Given the description of an element on the screen output the (x, y) to click on. 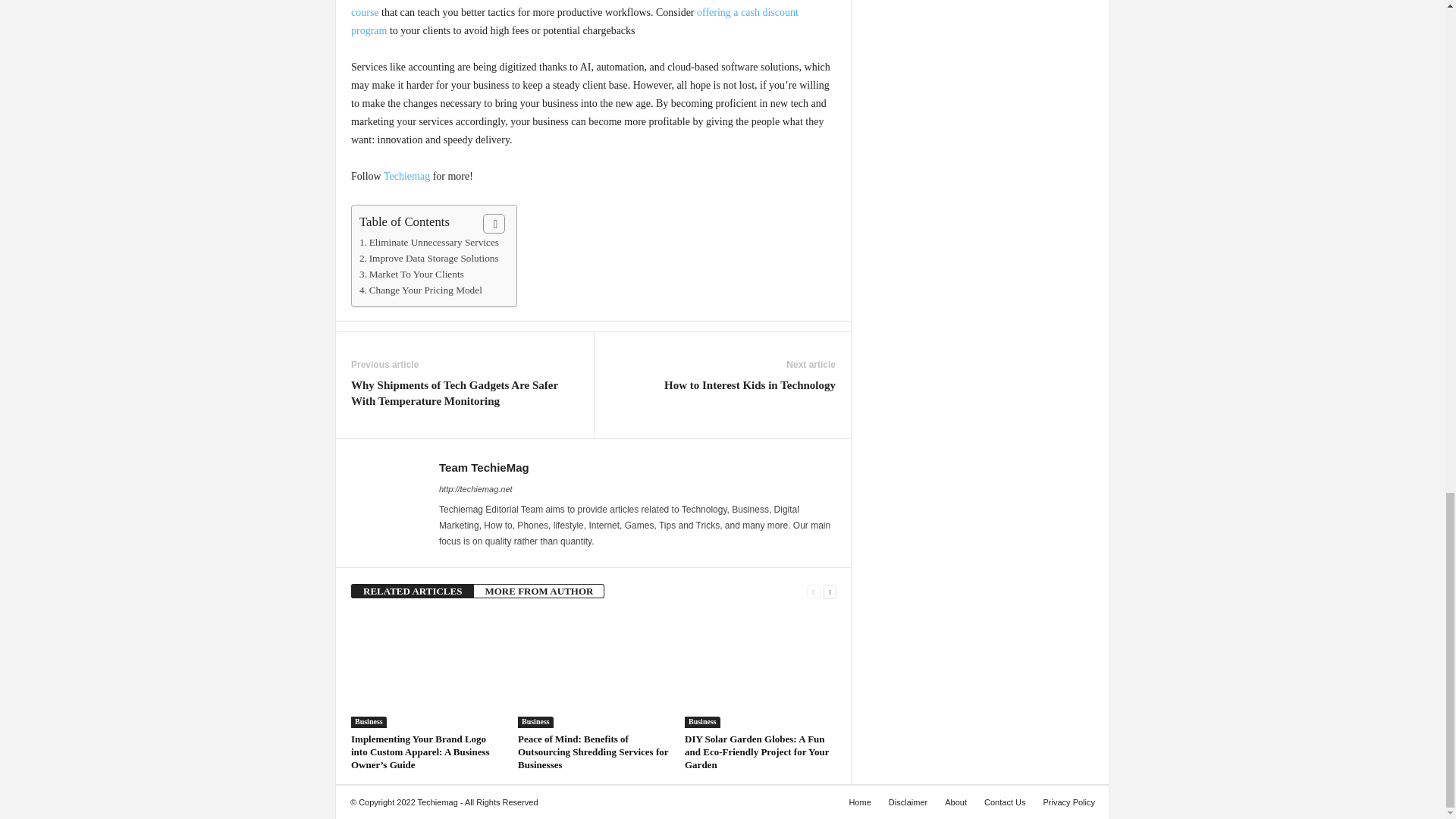
Improve Data Storage Solutions (429, 257)
